Given the description of an element on the screen output the (x, y) to click on. 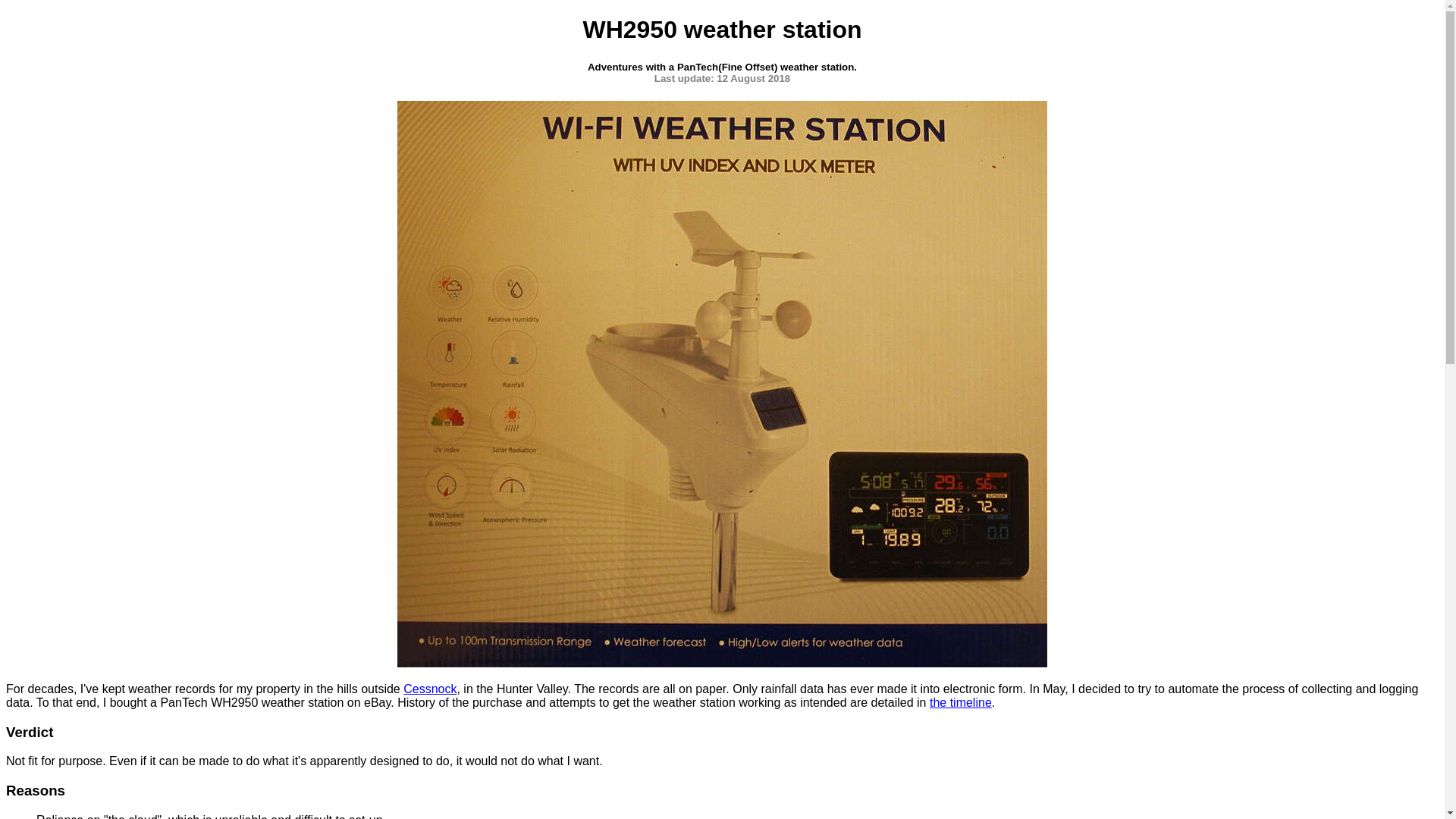
the timeline Element type: text (960, 702)
Verdict Element type: text (29, 731)
Reasons Element type: text (35, 790)
Cessnock Element type: text (429, 688)
